Given the description of an element on the screen output the (x, y) to click on. 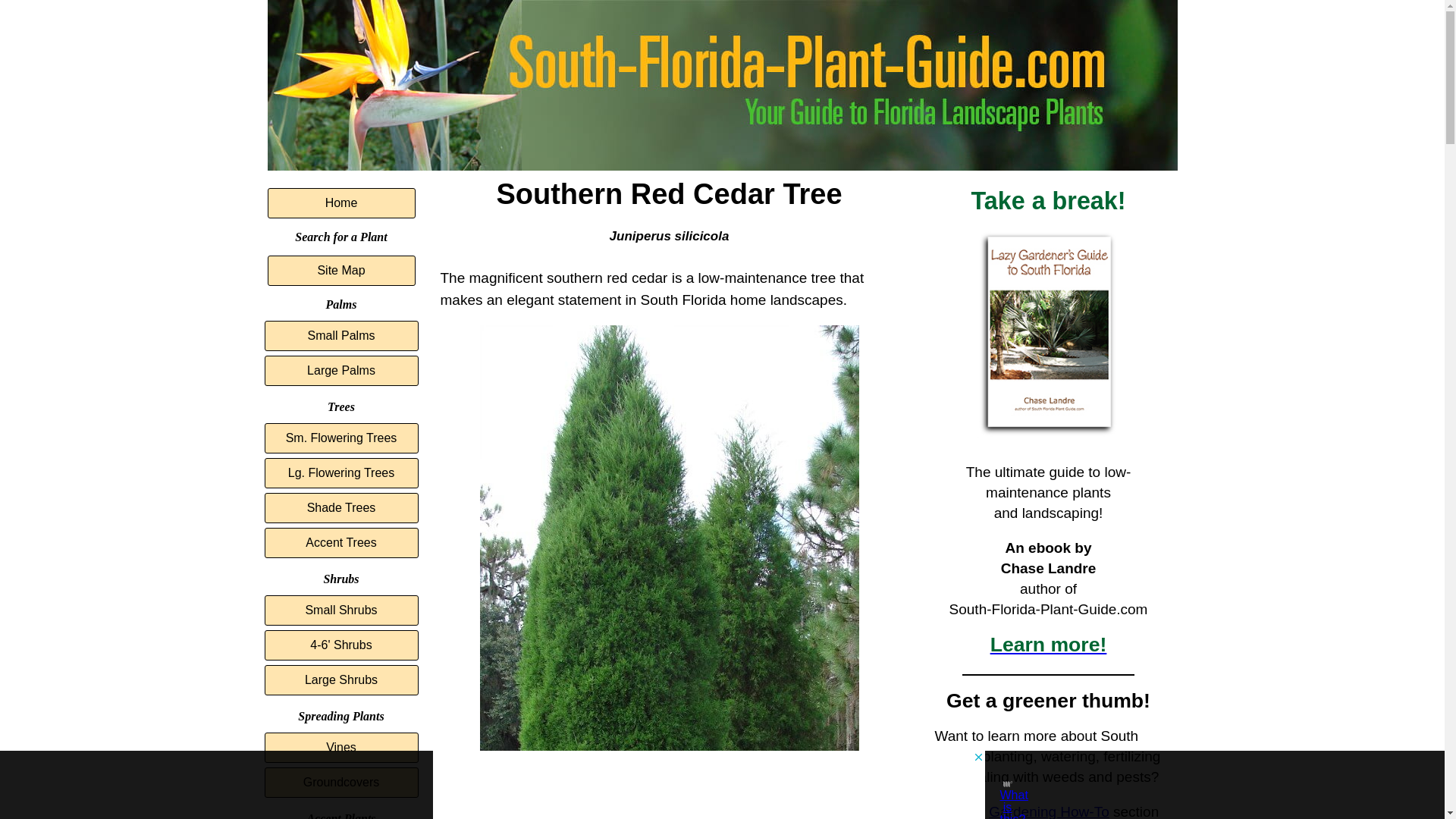
3rd party ad content (708, 785)
Accent Trees (340, 542)
Home (340, 203)
Site Map (340, 270)
cover Lazy Gardener's Guide (1048, 334)
Lg. Flowering Trees (340, 472)
Small Palms (340, 336)
4-6' Shrubs (340, 644)
Groundcovers (340, 782)
Large Shrubs (340, 680)
Sm. Flowering Trees (340, 438)
Vines (340, 747)
Go to Low Maintenance Plants ebook (1048, 437)
Small Shrubs (340, 610)
